Given the description of an element on the screen output the (x, y) to click on. 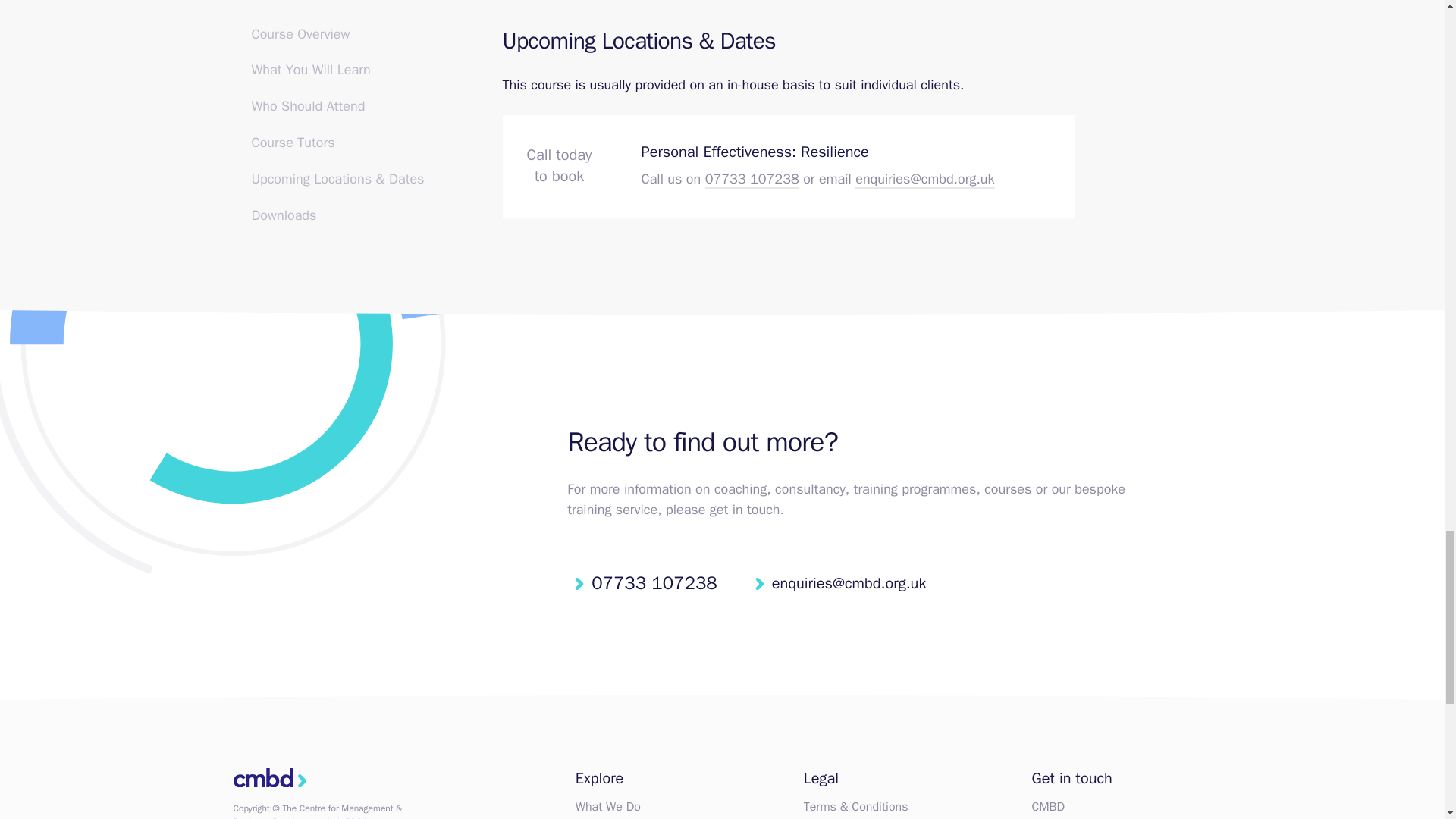
07733 107238 (645, 583)
07733 107238 (751, 178)
What We Do (607, 806)
CMBD (268, 781)
Return to the CMBD home page (268, 781)
